Given the description of an element on the screen output the (x, y) to click on. 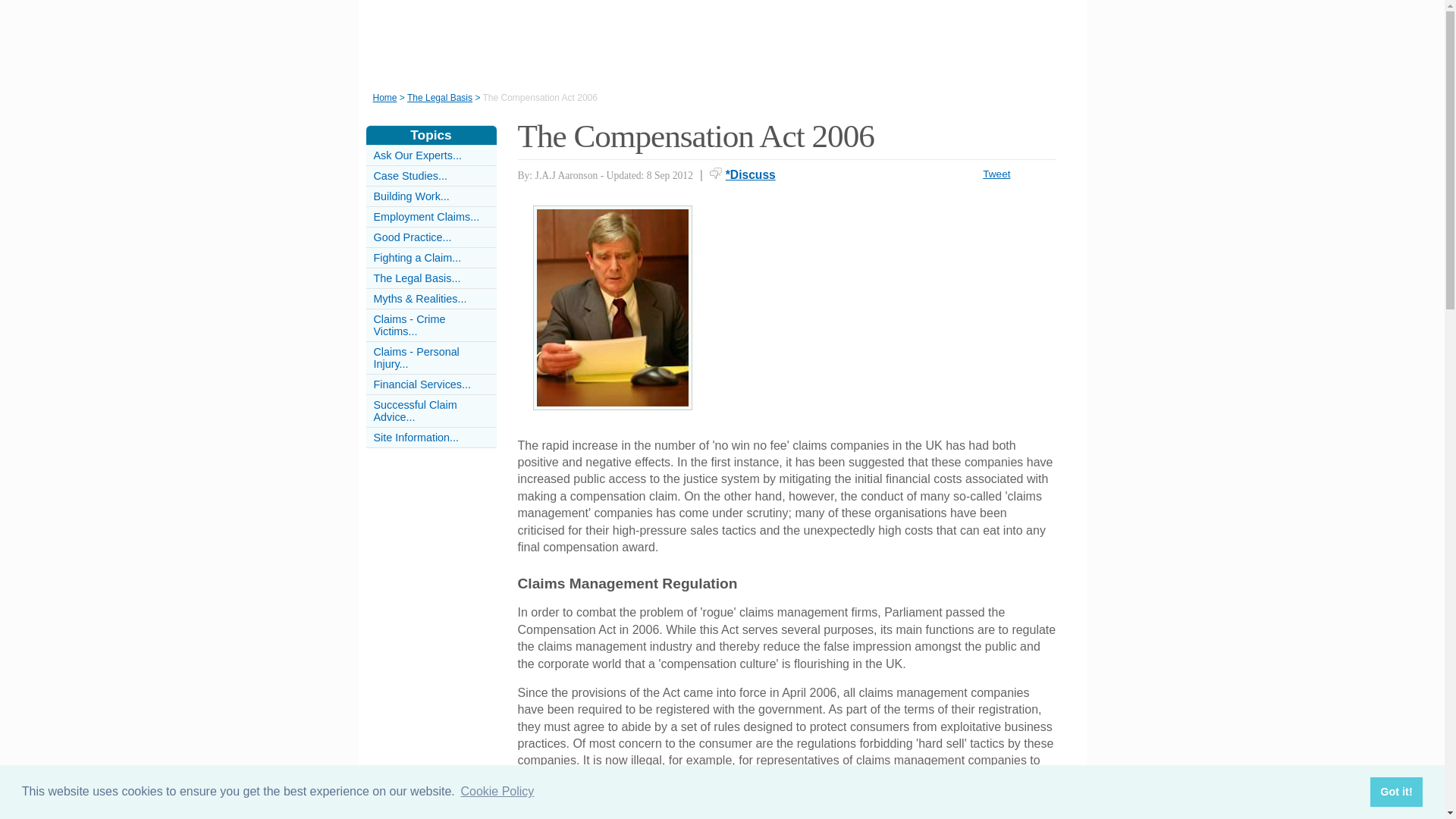
The Legal Basis... (416, 277)
Claims - Crime Victims... (408, 324)
Home (384, 97)
Advertisement (889, 311)
Ask Our Experts... (416, 155)
Claims - Personal Injury... (415, 357)
Employment Claims... (425, 216)
Fighting a Claim... (416, 257)
Site Information... (415, 437)
Case Studies... (409, 175)
Cookie Policy (496, 791)
Good Practice... (411, 236)
Building Work... (410, 196)
The Legal Basis (439, 97)
Tweet (996, 173)
